Given the description of an element on the screen output the (x, y) to click on. 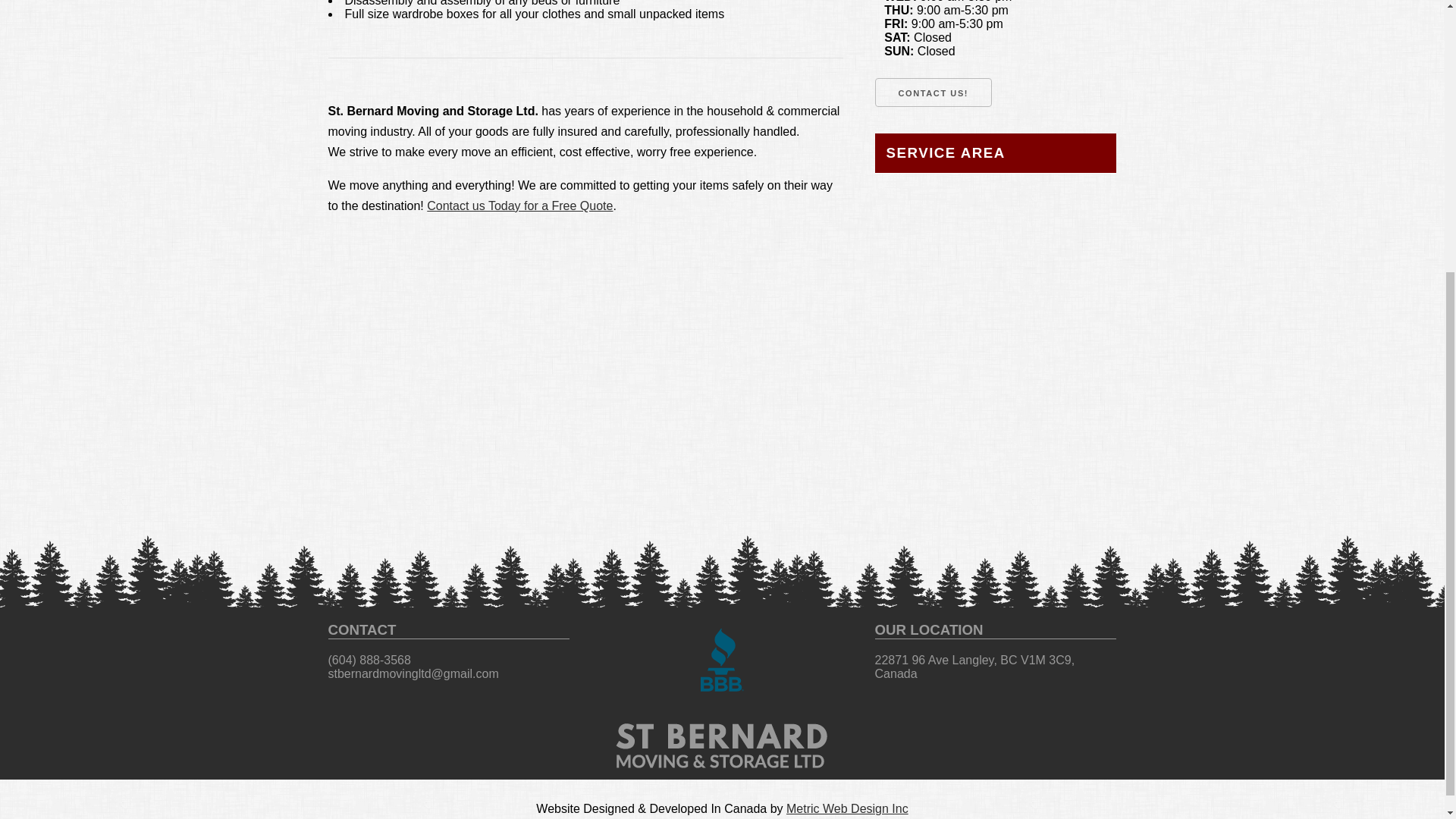
Contact us Today for a Free Quote (519, 205)
CONTACT US! (933, 92)
Metric Web Design Inc (847, 808)
